Given the description of an element on the screen output the (x, y) to click on. 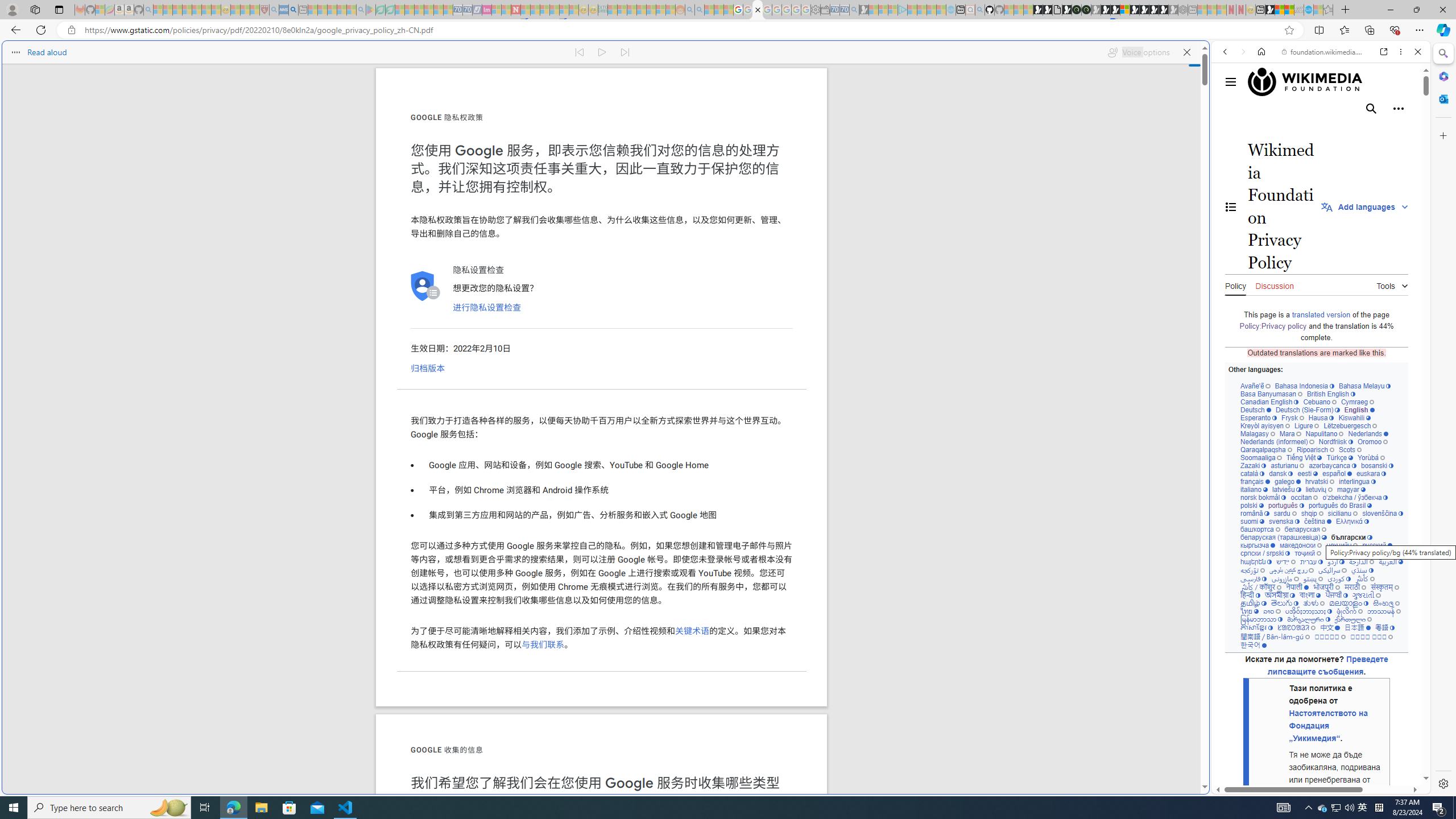
svenska (1284, 520)
Napulitano (1323, 433)
Nederlands (1368, 433)
Nederlands (1368, 433)
